Given the description of an element on the screen output the (x, y) to click on. 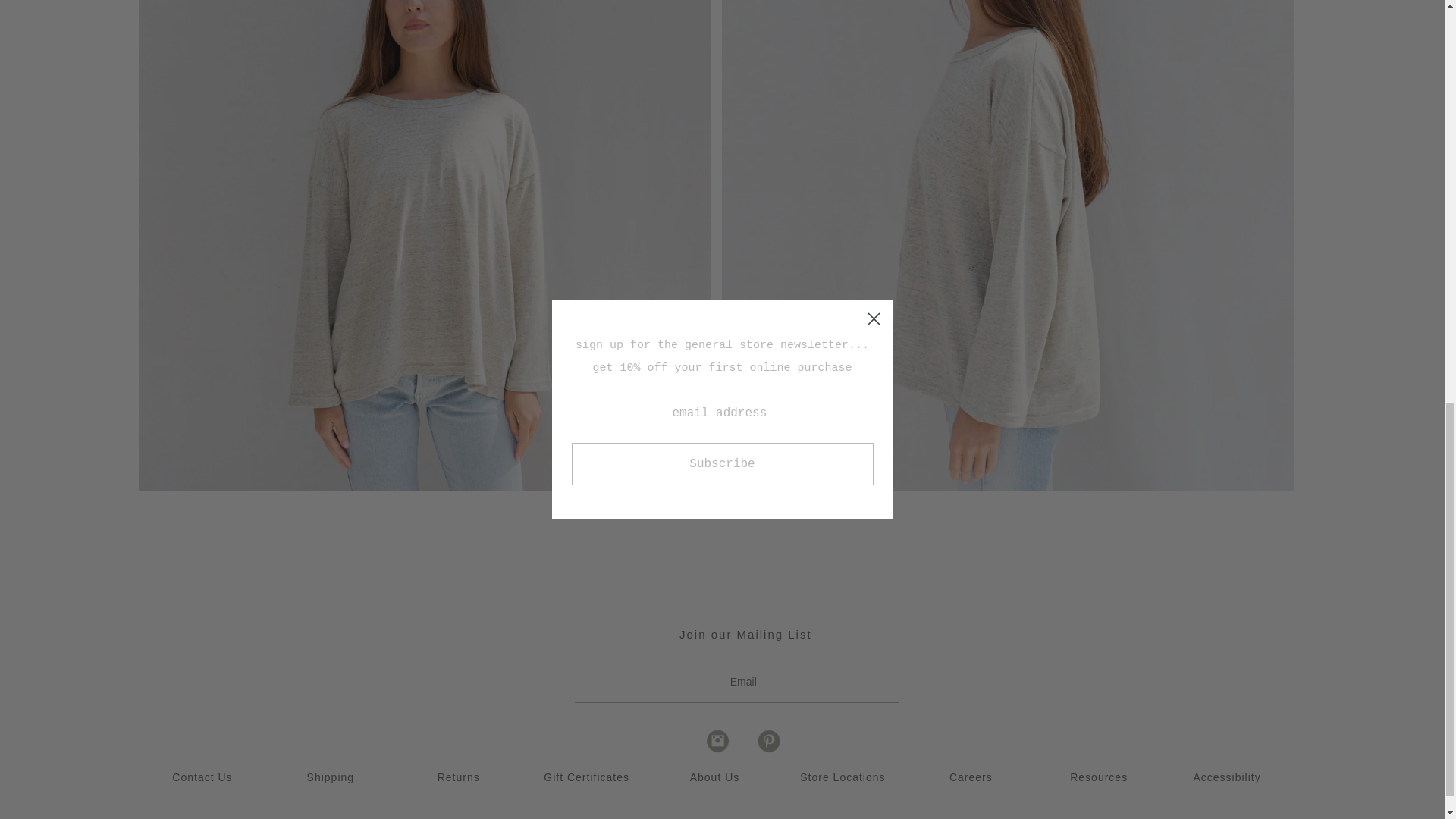
Gift Certificates (585, 776)
Shipping (331, 776)
Returns (459, 776)
Contact Us (201, 776)
